Given the description of an element on the screen output the (x, y) to click on. 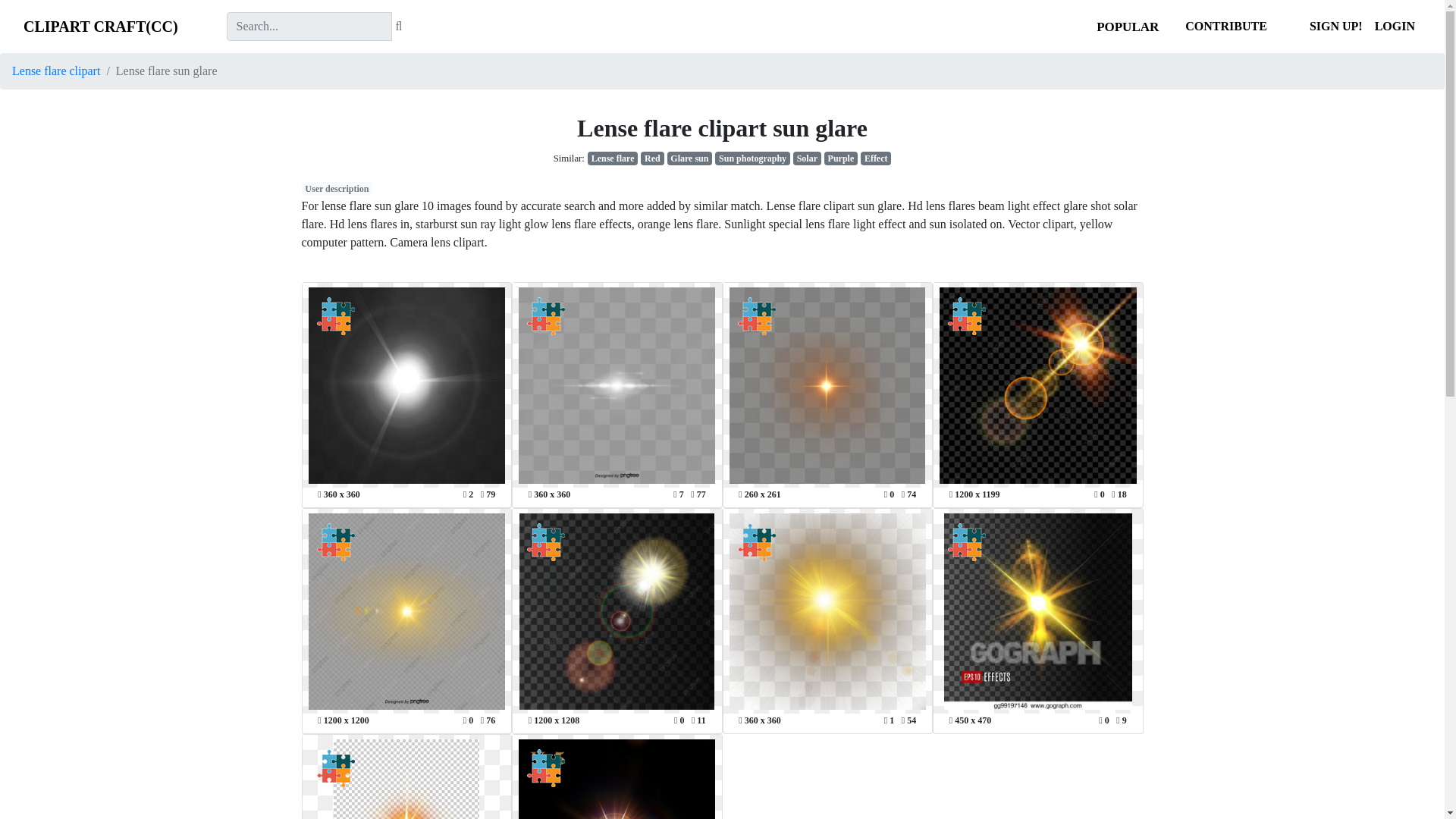
CONTRIBUTE (1225, 26)
lense flare clipart effect (875, 158)
lense flare clipart solar (807, 158)
Glare sun (689, 158)
lense flare clipart purple (840, 158)
lense flare clipart (612, 158)
Lense flare (612, 158)
glare clipart sun flare (689, 158)
SIGN UP! (1335, 26)
Sun photography (752, 158)
Lense flare clipart (55, 70)
Solar (807, 158)
POPULAR (1127, 26)
Purple (840, 158)
Red (651, 158)
